Given the description of an element on the screen output the (x, y) to click on. 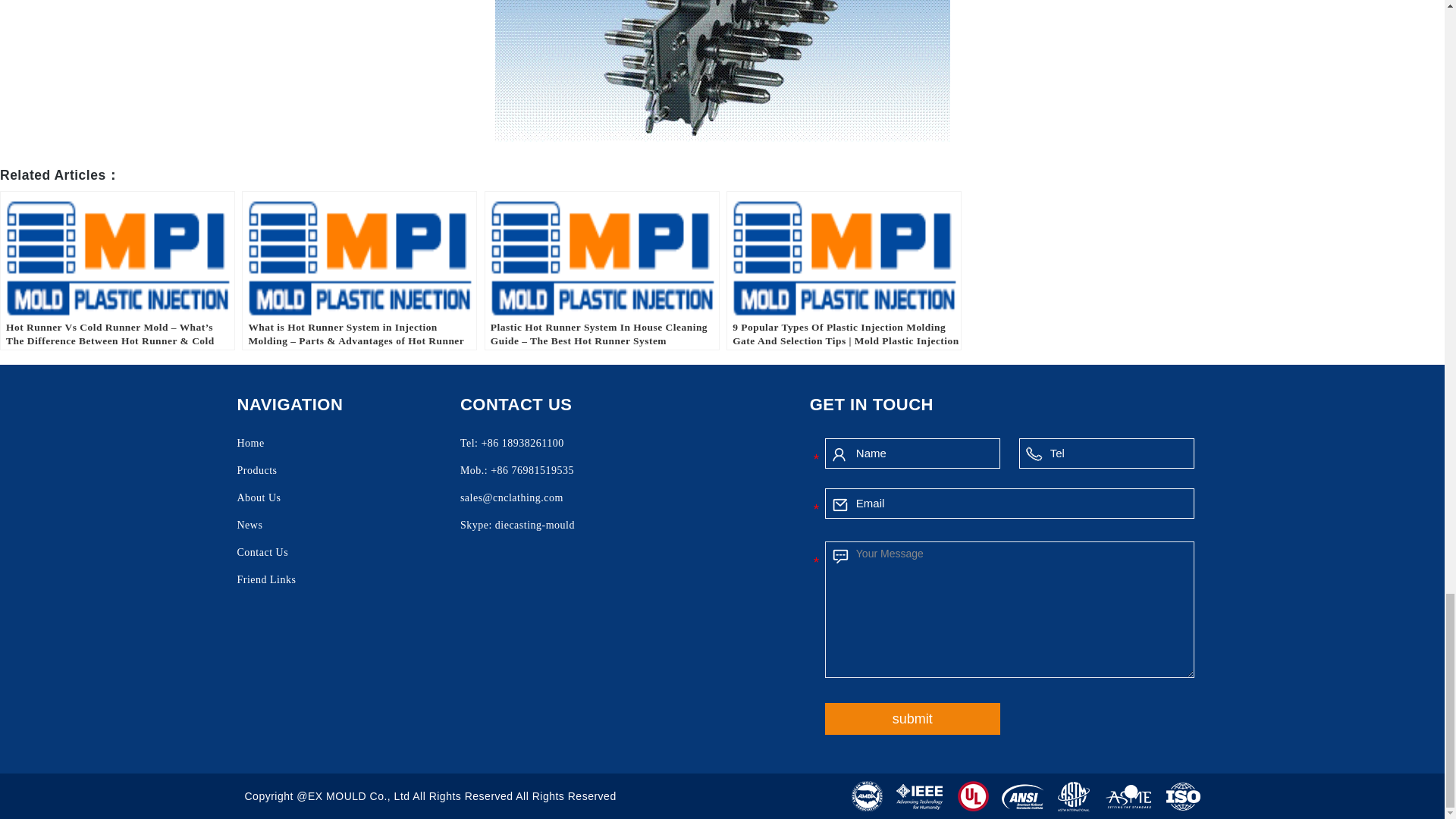
submit (912, 718)
